Given the description of an element on the screen output the (x, y) to click on. 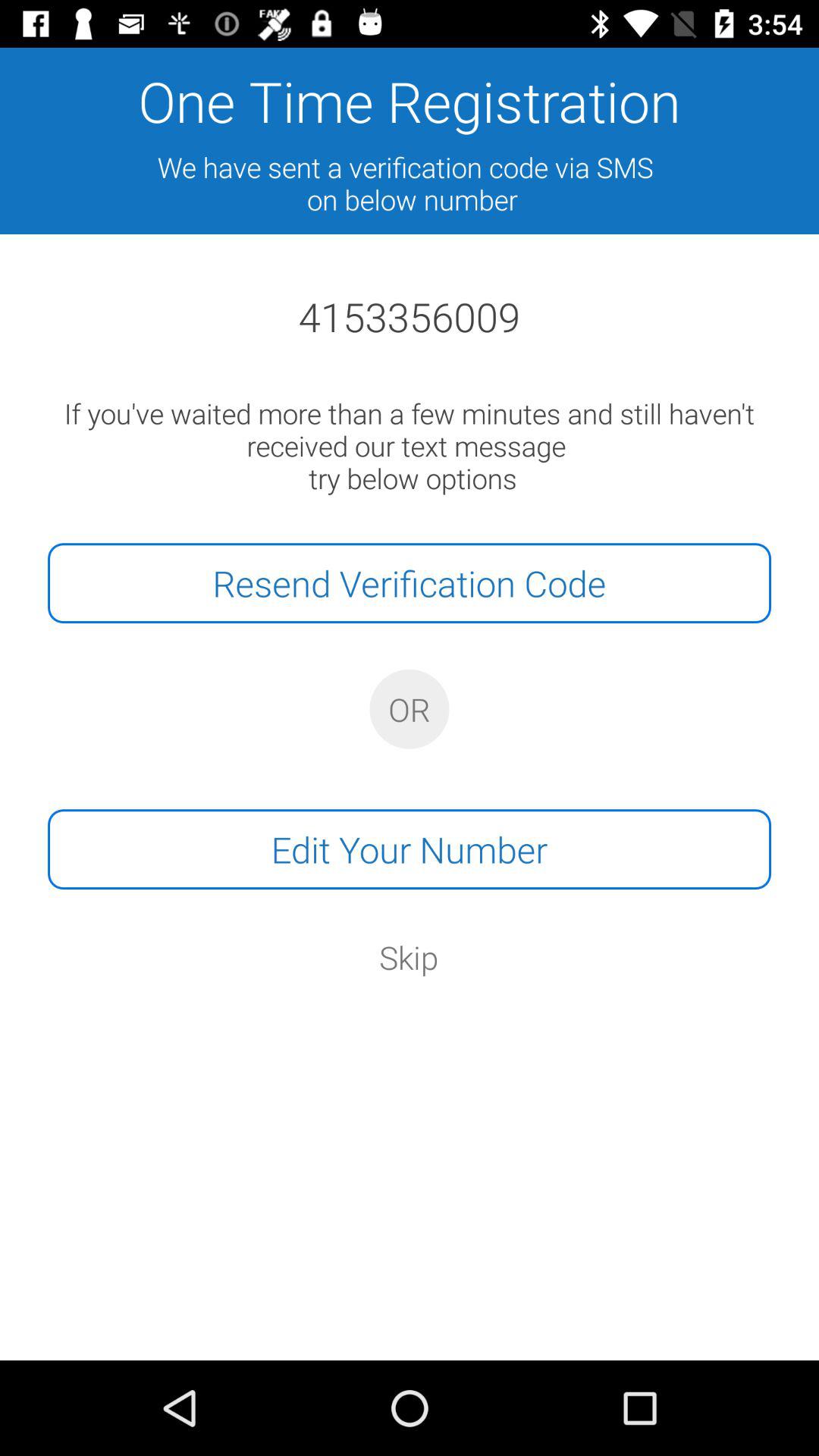
flip to the edit your number (409, 849)
